Given the description of an element on the screen output the (x, y) to click on. 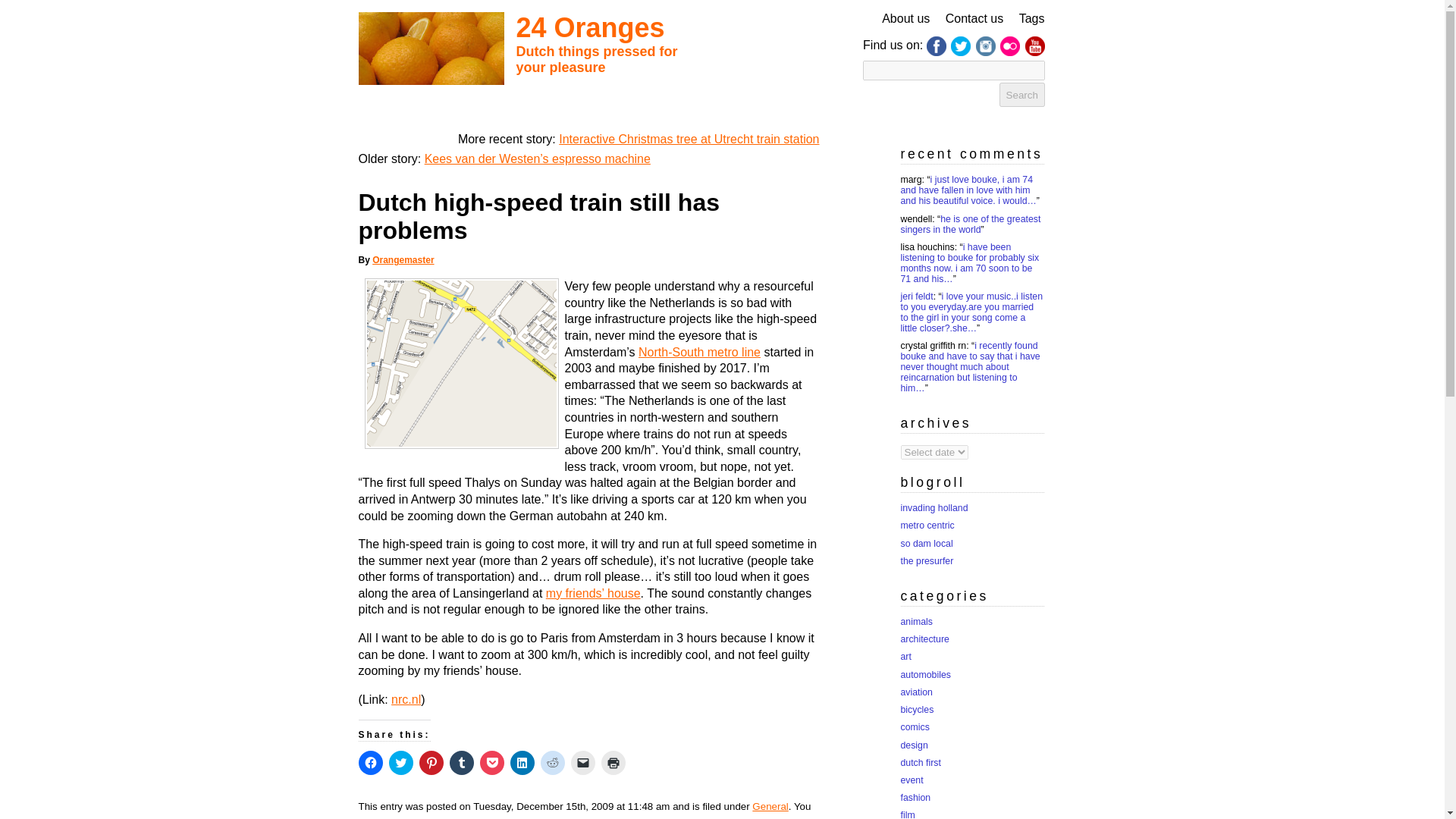
About us (906, 18)
nrc.nl (405, 698)
North-South metro line (699, 351)
General (769, 806)
Tags (1032, 18)
Search (1021, 94)
RSS 2.0 (602, 818)
leave a response (726, 818)
Search (1021, 94)
24 Oranges (589, 27)
Interactive Christmas tree at Utrecht train station (688, 138)
Contact us (973, 18)
Orangemaster (402, 259)
